Given the description of an element on the screen output the (x, y) to click on. 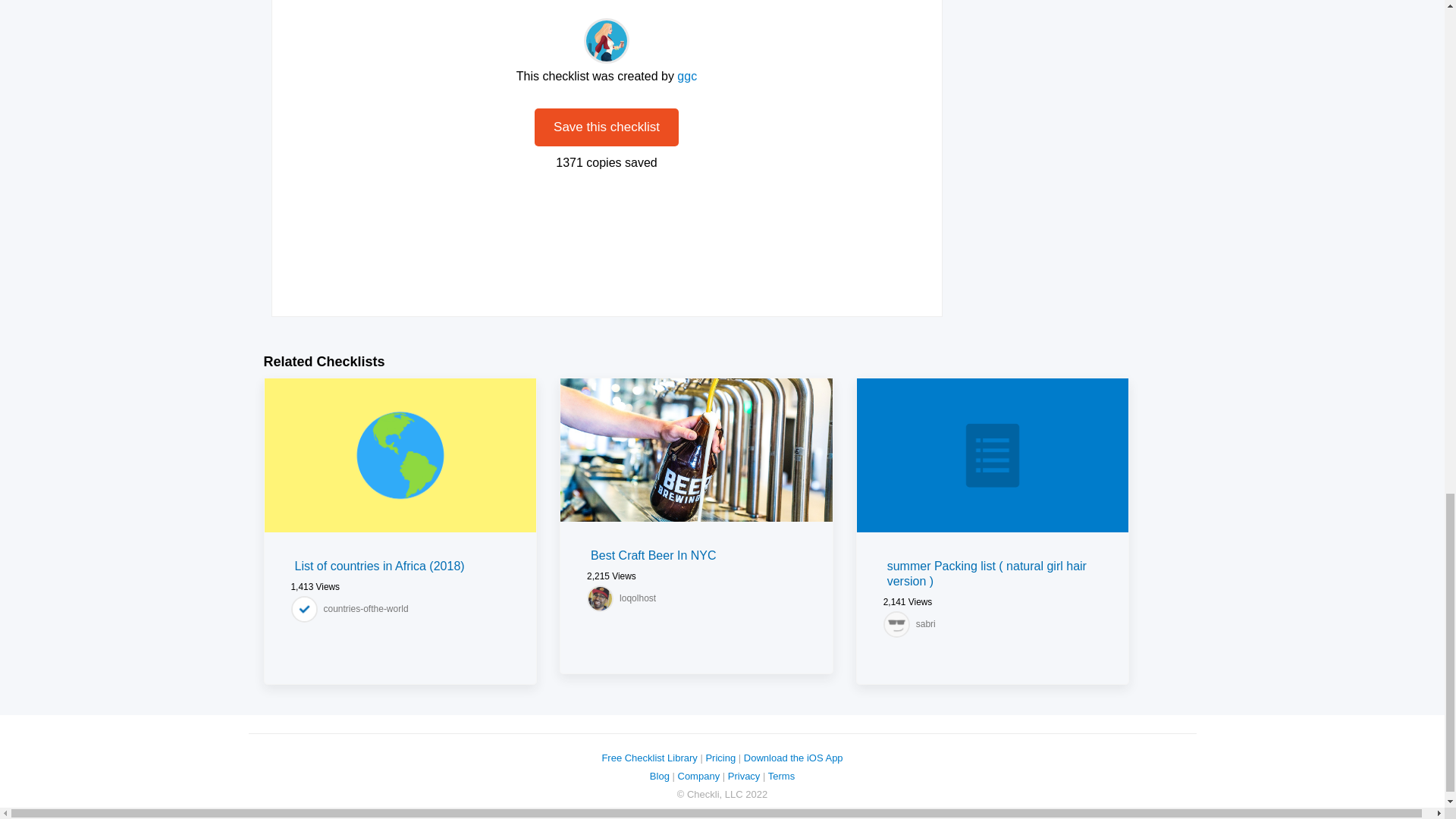
Save a copy of this checklist (606, 127)
